Given the description of an element on the screen output the (x, y) to click on. 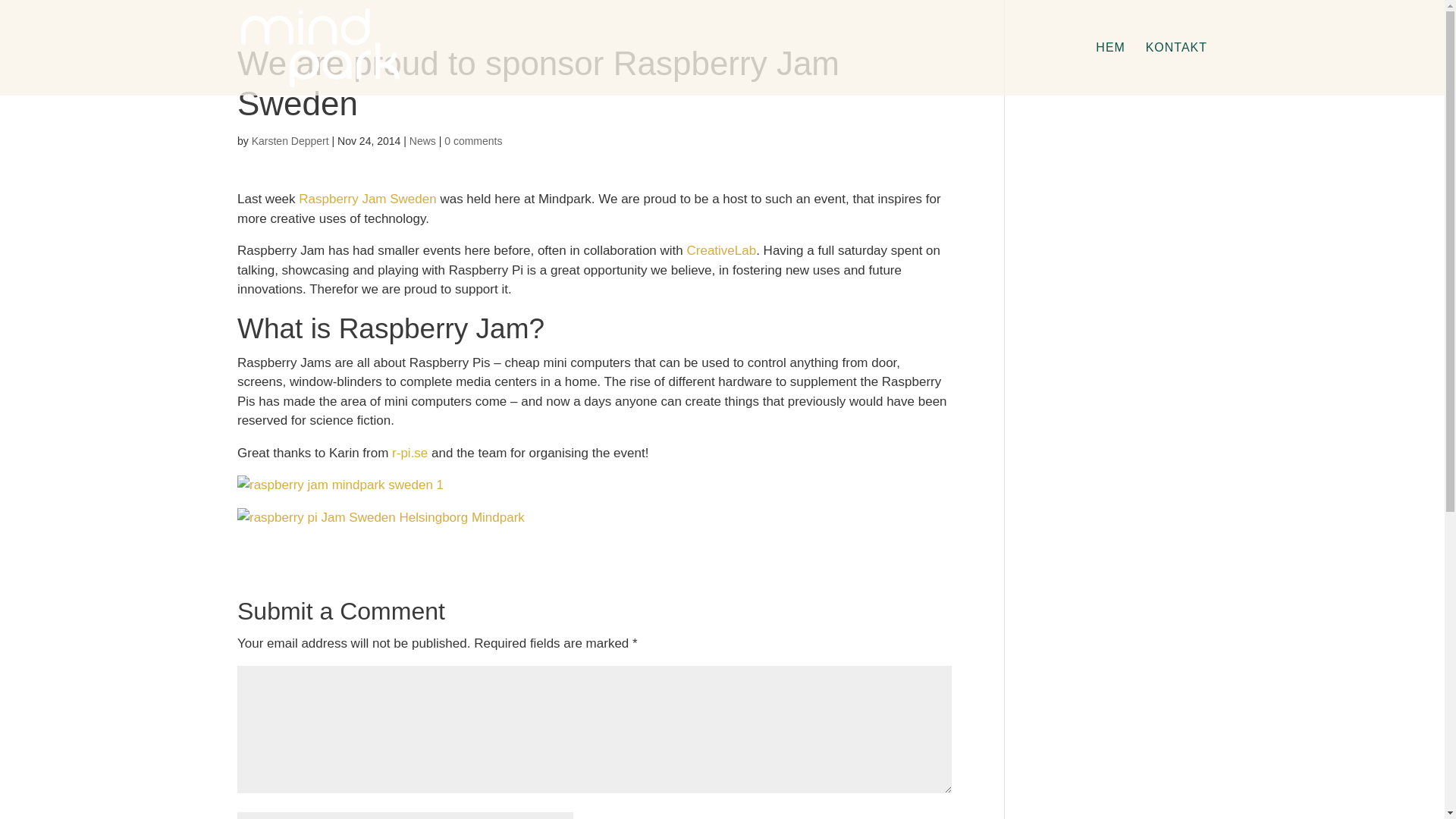
r-pi.se (409, 452)
Raspberry Jam Sweden (366, 198)
KONTAKT (1176, 68)
0 comments (473, 141)
Karsten Deppert (290, 141)
CreativeLab (720, 250)
News (422, 141)
Posts by Karsten Deppert (290, 141)
